Given the description of an element on the screen output the (x, y) to click on. 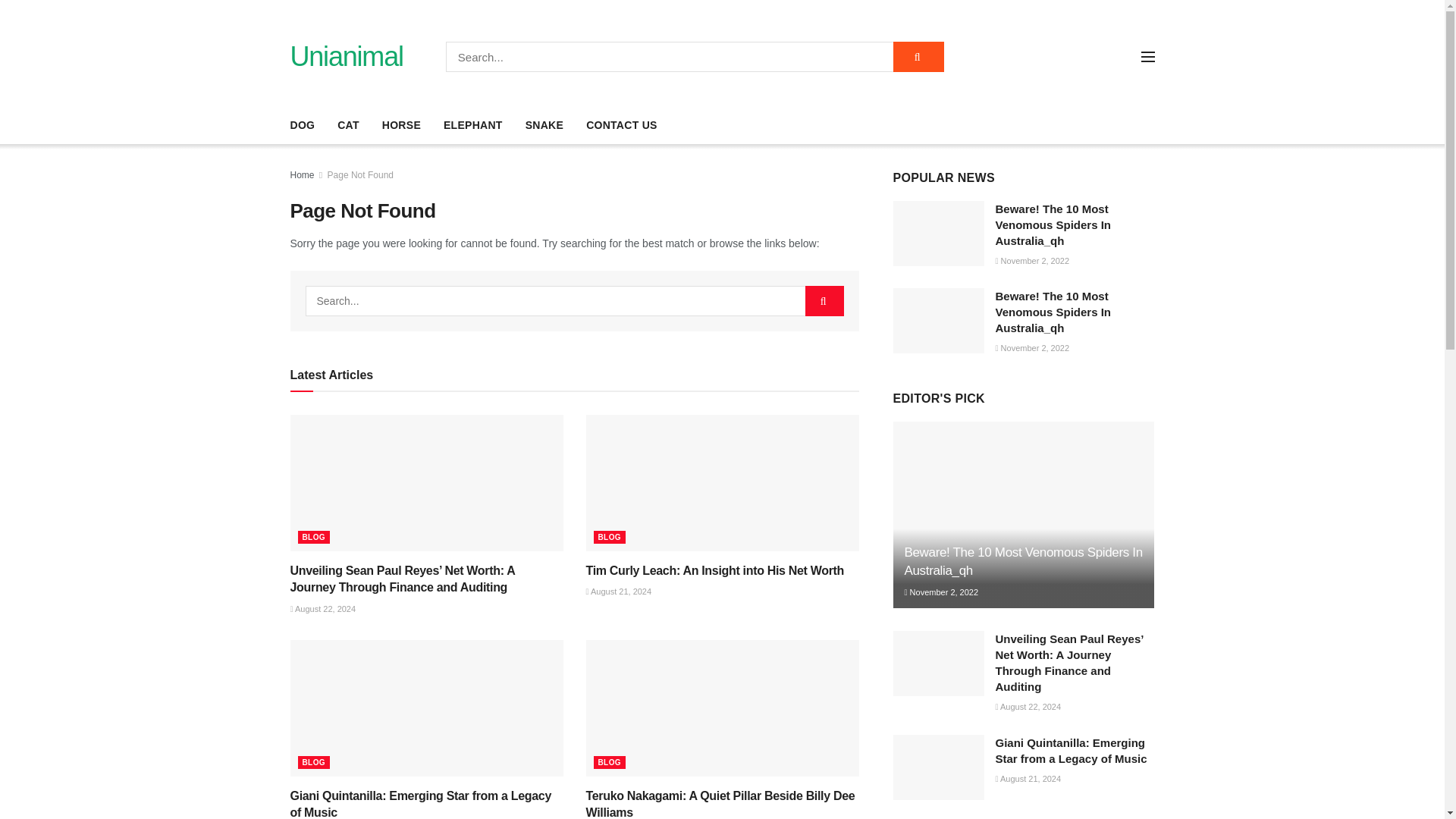
SNAKE (544, 124)
CONTACT US (622, 124)
Giani Quintanilla: Emerging Star from a Legacy of Music (419, 804)
August 21, 2024 (617, 591)
Unianimal (346, 56)
HORSE (400, 124)
BLOG (609, 536)
CAT (348, 124)
August 22, 2024 (322, 608)
BLOG (313, 762)
